Given the description of an element on the screen output the (x, y) to click on. 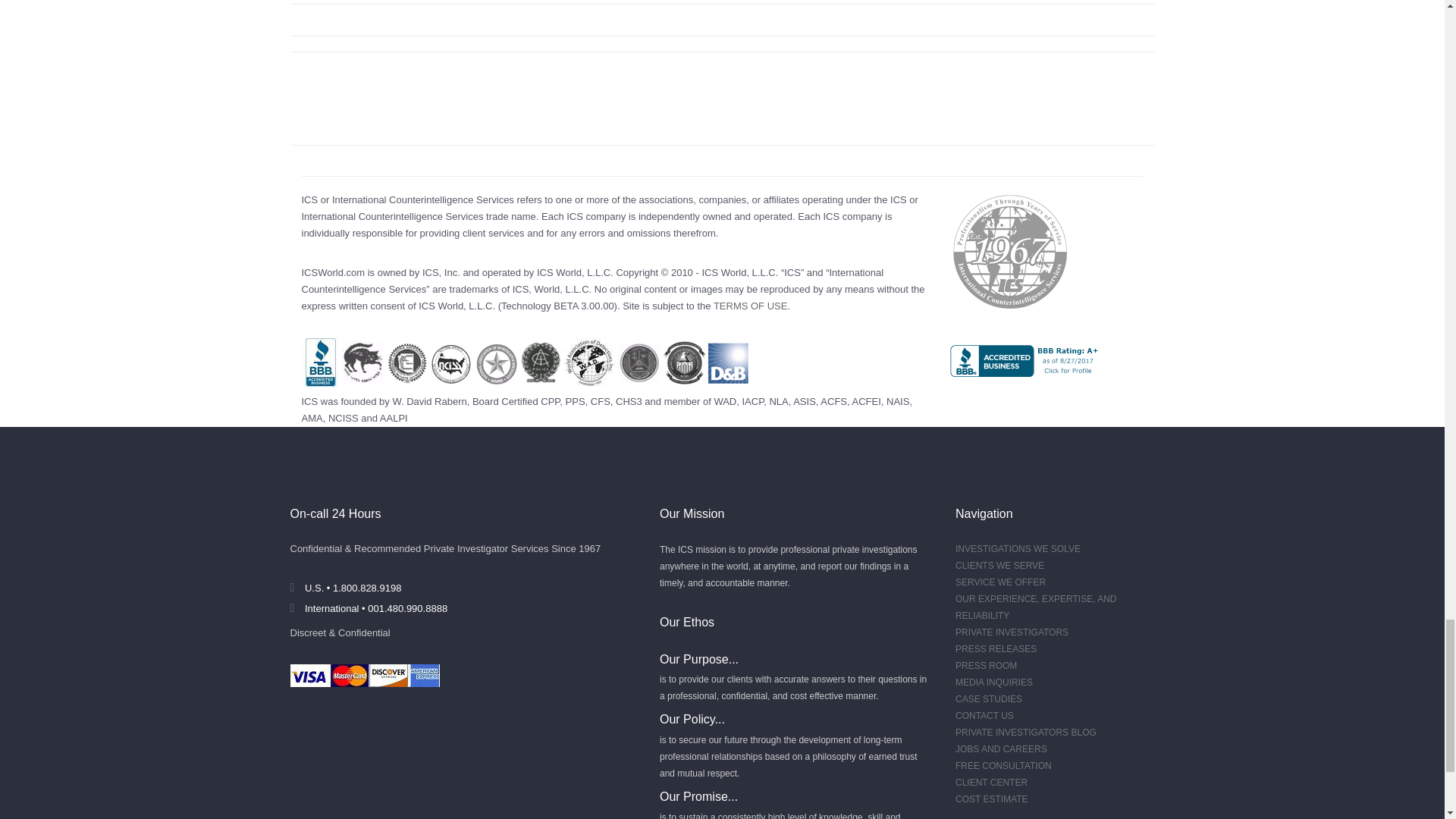
Certified Homeland Security Specialist Level Three (628, 401)
American Management Association (312, 418)
Certified Fraud Specialist (600, 401)
Nine Lives Association (777, 401)
American Society for Industrial Security (804, 401)
National Council of Investigation and Security Services (343, 418)
World Association of Detectives (724, 401)
International Association of Cheifs of Police (751, 401)
National Association of Investigative Specialists (897, 401)
Association of Certified Fraud Specialists (834, 401)
American College of Forensic Examiners Institute (865, 401)
Arizona Association of Licensed Private Investigators (393, 418)
Personal Protection Specialist (575, 401)
Certified Protection Professional (549, 401)
